Given the description of an element on the screen output the (x, y) to click on. 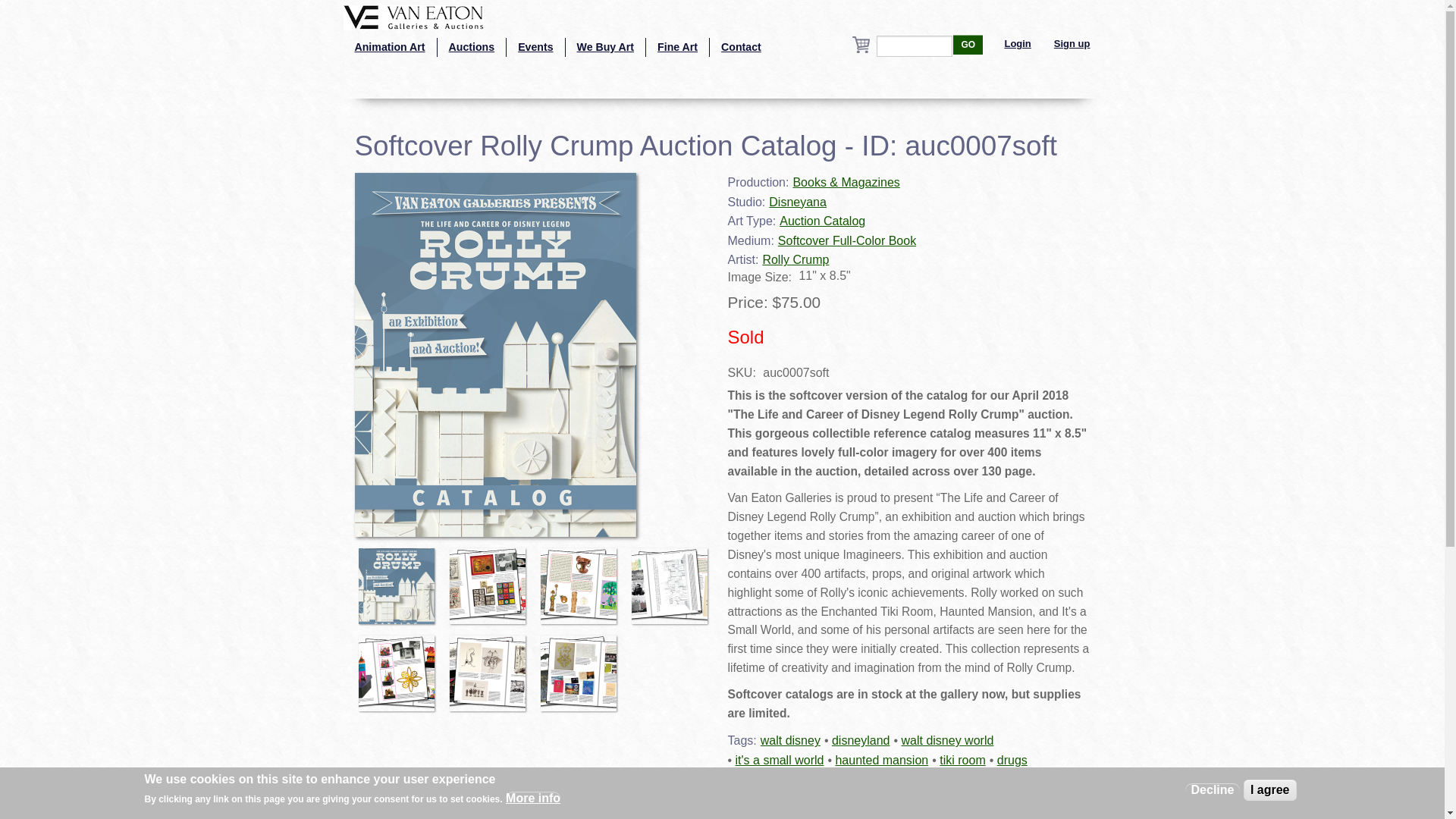
Rolly Crump (794, 259)
Softcover Rolly Crump Auction Catalog - ID: auc0007soft (400, 666)
Softcover Rolly Crump Auction Catalog - ID: auc0007soft (400, 579)
Softcover Rolly Crump Auction Catalog - ID: auc0007soft (582, 666)
Softcover Rolly Crump Auction Catalog - ID: auc0007soft (495, 353)
graphic design (882, 779)
walt disney (790, 739)
Fine Art (677, 46)
pinups (951, 779)
Auctions (472, 46)
